Given the description of an element on the screen output the (x, y) to click on. 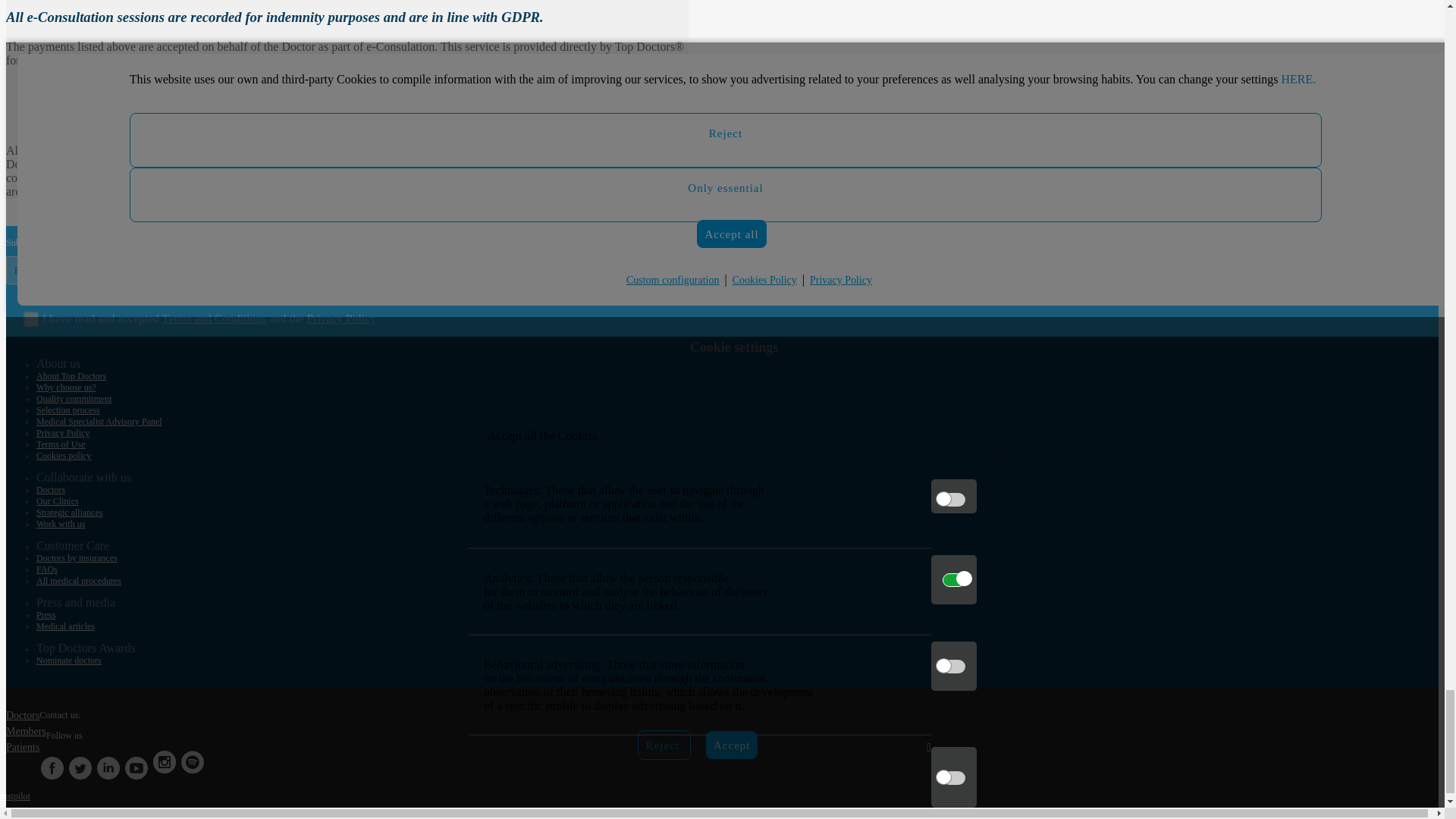
Top Doctors su Spotify (192, 765)
Top Doctors en Youtube (136, 765)
Top Doctors en Twitter (79, 765)
Top Doctors en Linkedin (108, 765)
Top Doctors su Instagram (164, 765)
Top Doctors en Facebook (52, 765)
